Given the description of an element on the screen output the (x, y) to click on. 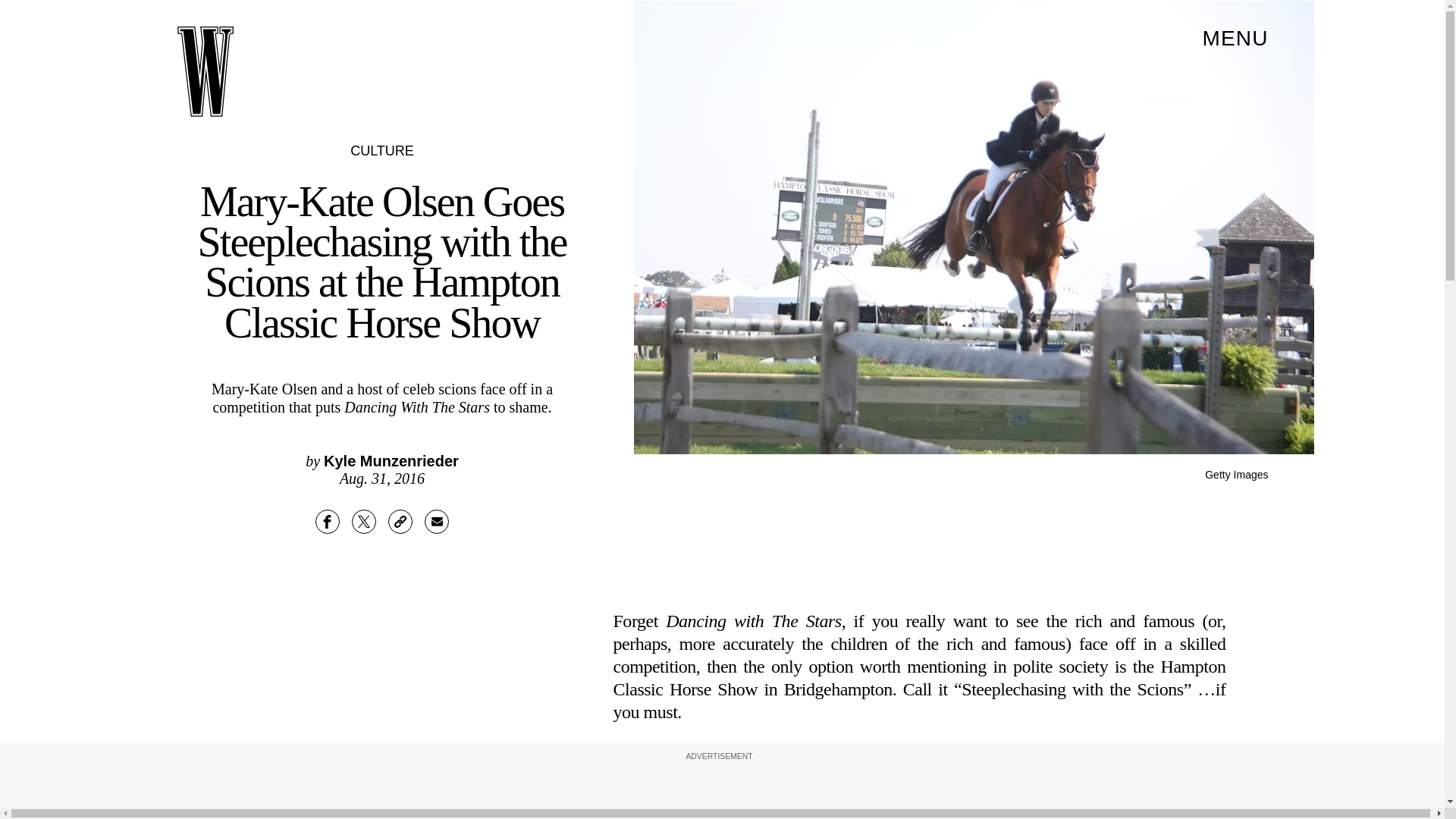
Send via email (436, 521)
Share (327, 521)
Kyle Munzenrieder (390, 460)
Post (363, 521)
Copy link (400, 521)
